Given the description of an element on the screen output the (x, y) to click on. 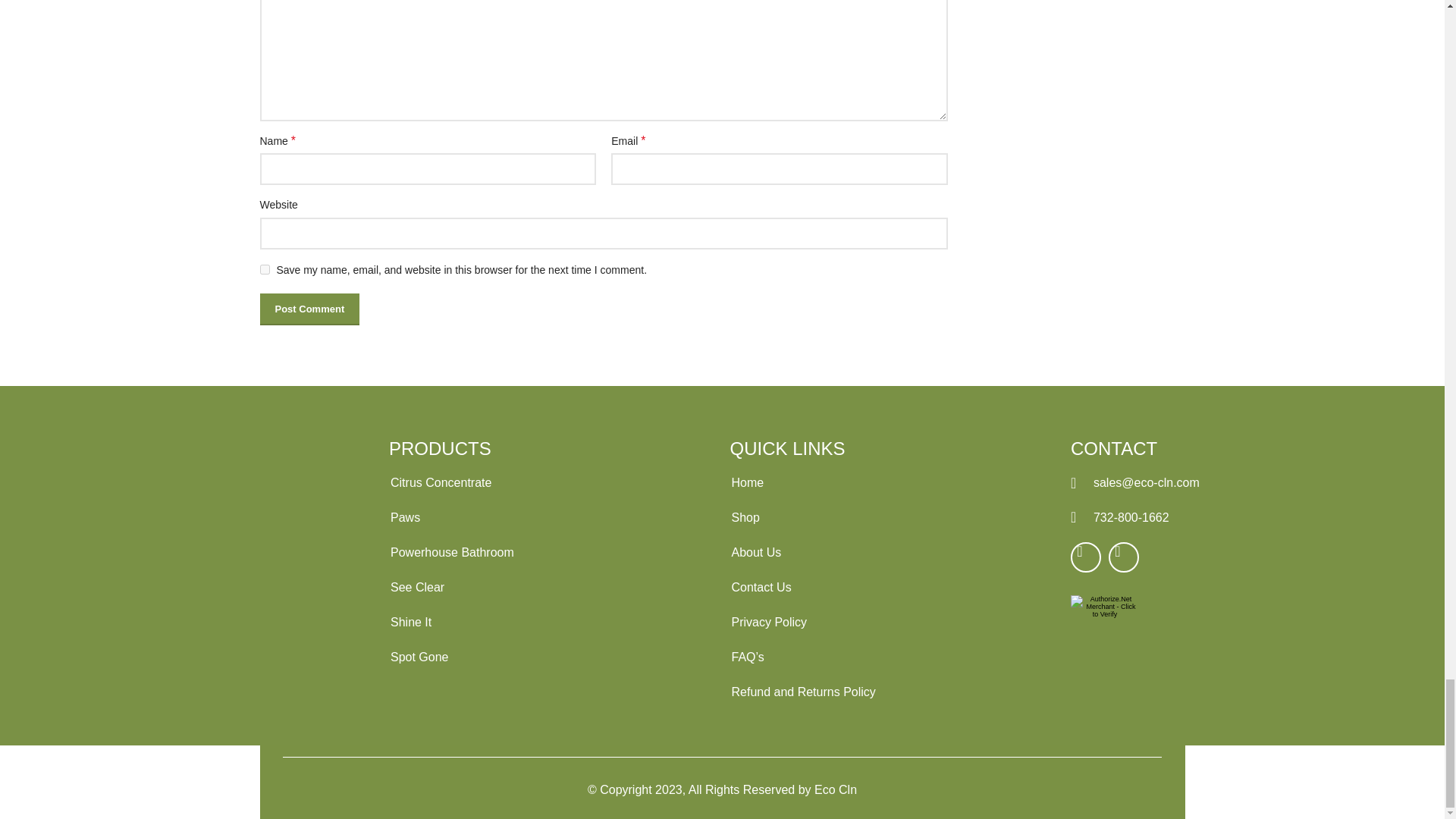
Post Comment (309, 309)
yes (264, 269)
Post Comment (309, 309)
